Given the description of an element on the screen output the (x, y) to click on. 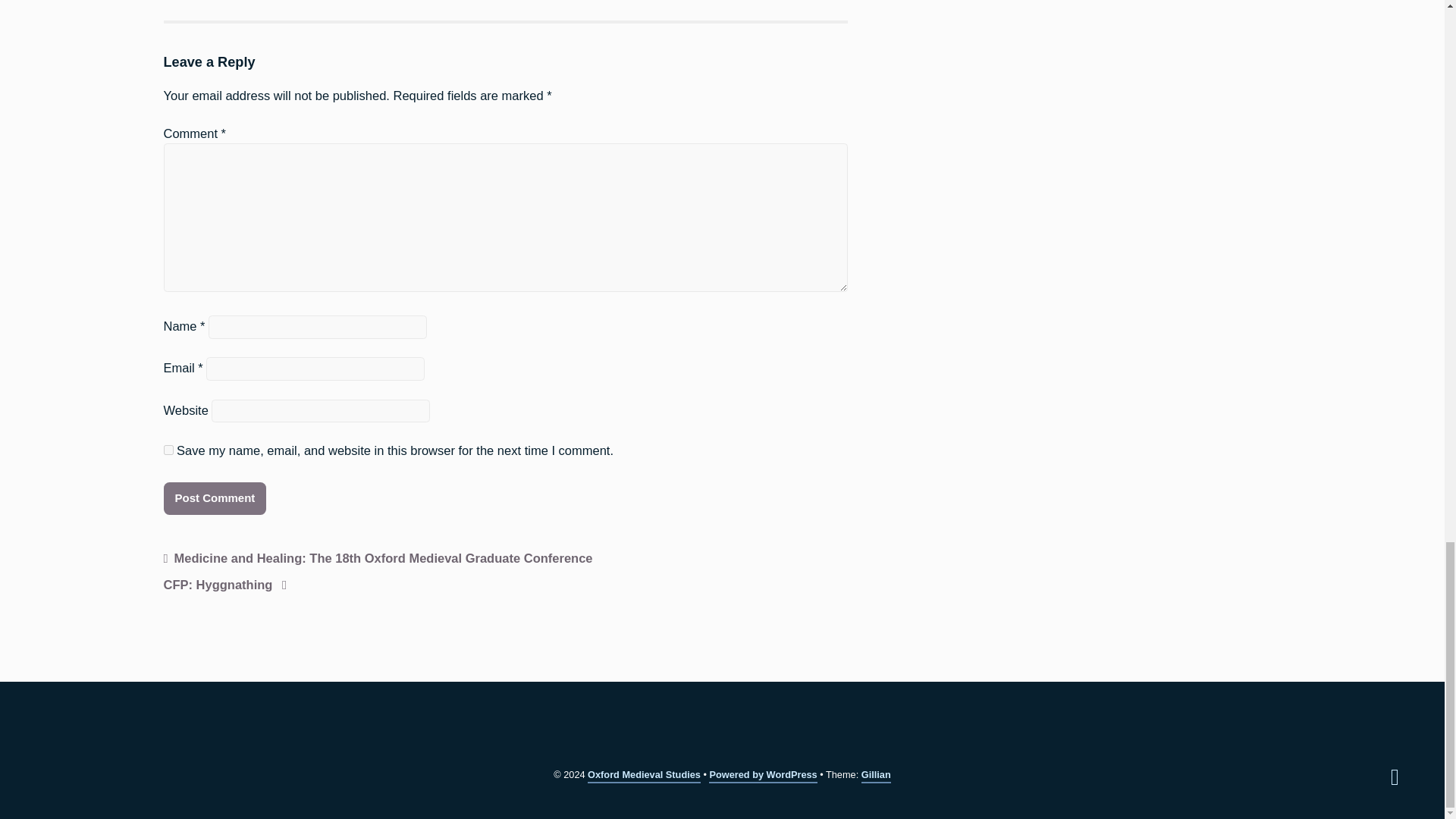
yes (168, 450)
Post Comment (214, 498)
CFP: Hyggnathing  (224, 586)
Post Comment (214, 498)
